Given the description of an element on the screen output the (x, y) to click on. 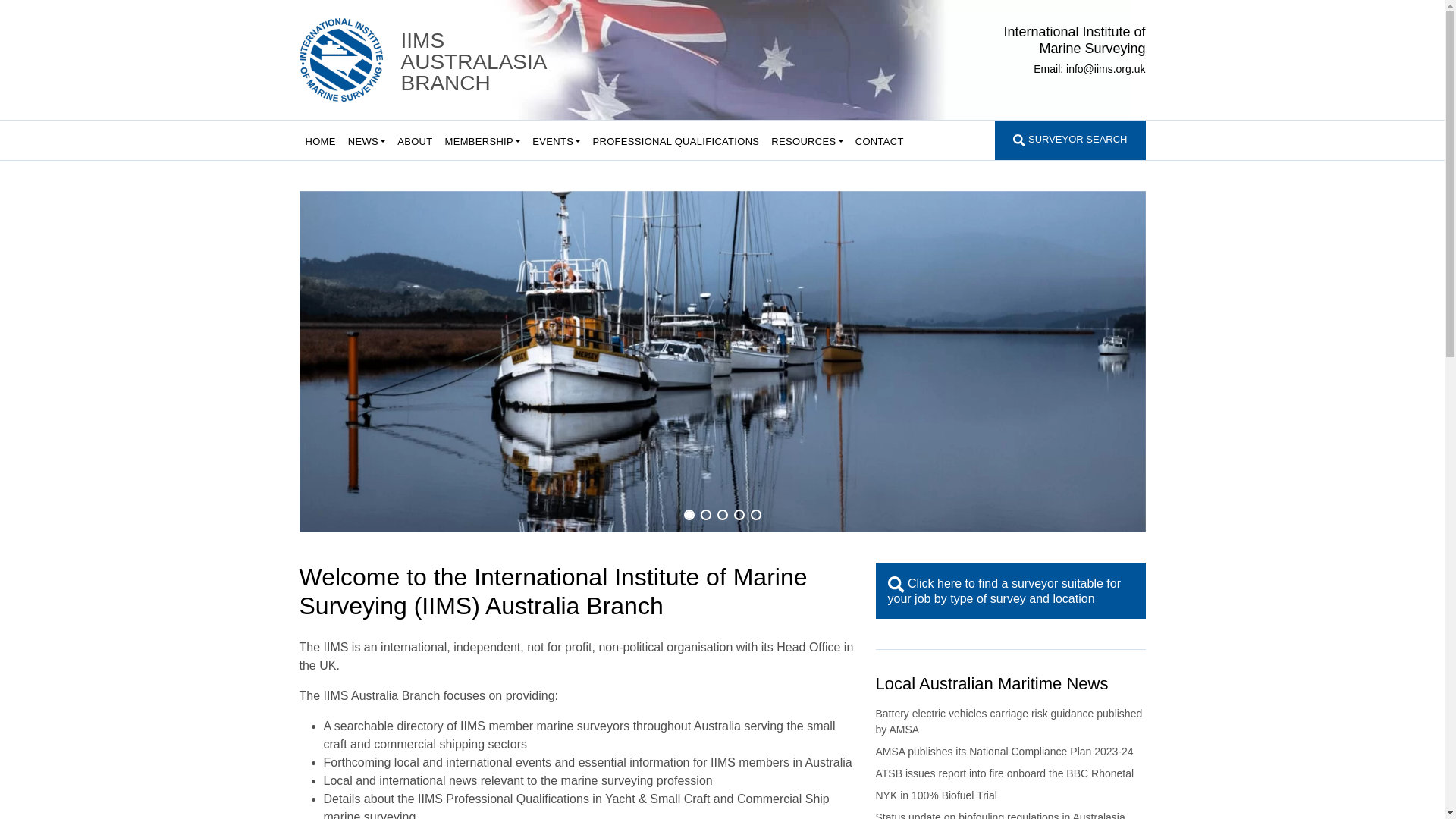
PROFESSIONAL QUALIFICATIONS Element type: text (675, 140)
info@iims.org.uk Element type: text (1105, 68)
EVENTS Element type: text (556, 140)
MEMBERSHIP Element type: text (483, 140)
HOME Element type: text (319, 140)
RESOURCES Element type: text (806, 140)
CONTACT Element type: text (879, 140)
SURVEYOR SEARCH Element type: text (1069, 140)
NEWS Element type: text (367, 140)
ABOUT Element type: text (414, 140)
ATSB issues report into fire onboard the BBC Rhonetal Element type: text (1004, 773)
AMSA publishes its National Compliance Plan 2023-24 Element type: text (1003, 751)
NYK in 100% Biofuel Trial Element type: text (935, 795)
